Given the description of an element on the screen output the (x, y) to click on. 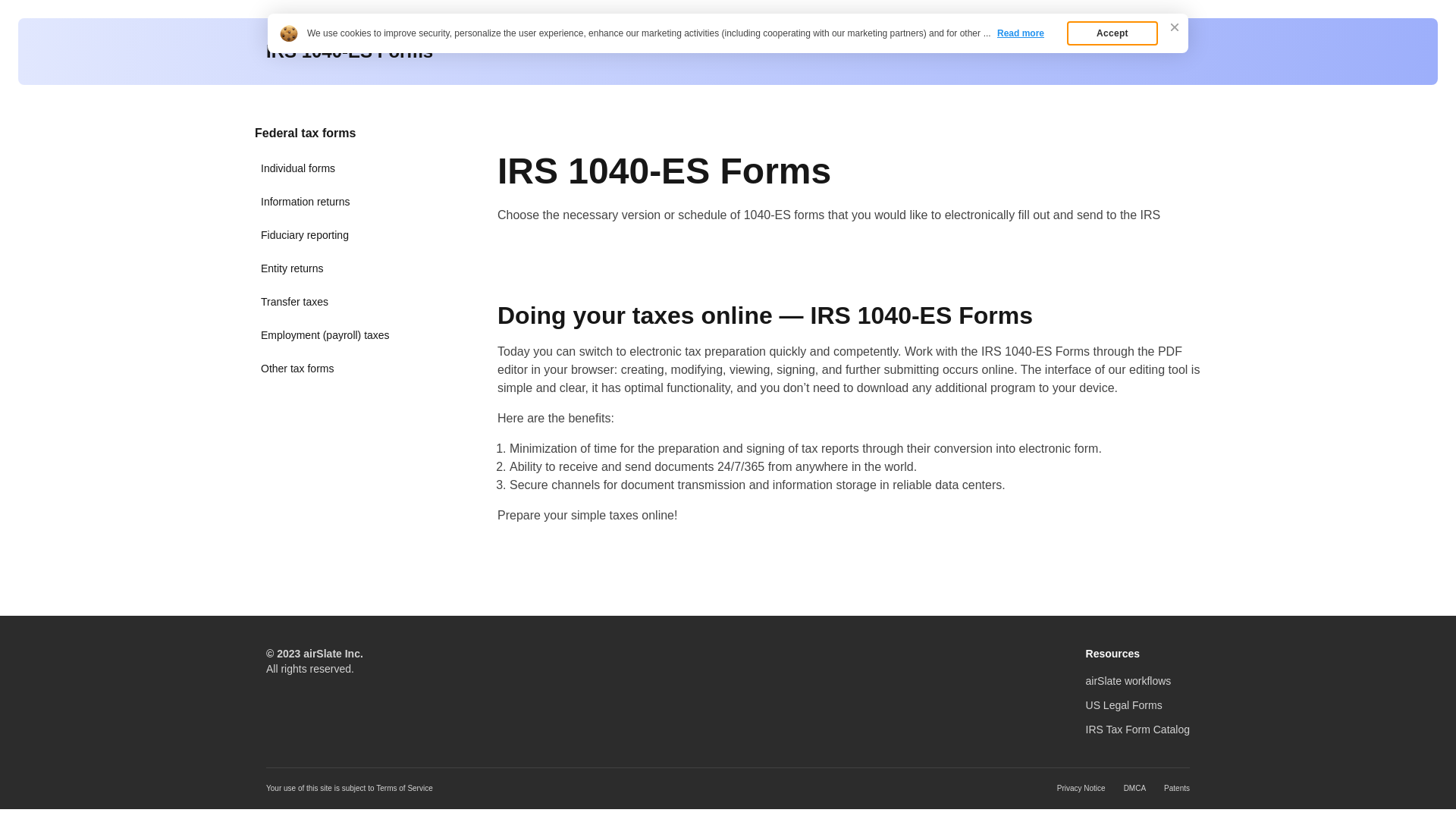
airSlate workflows Element type: text (1128, 680)
Entity returns Element type: text (333, 268)
Information returns Element type: text (333, 201)
Transfer taxes Element type: text (333, 301)
DMCA Element type: text (1134, 788)
Terms of Service Element type: text (404, 788)
Fiduciary reporting Element type: text (333, 234)
Accept Element type: text (1111, 33)
US Legal Forms Element type: text (1123, 705)
Employment (payroll) taxes Element type: text (333, 334)
Privacy Notice Element type: text (1081, 788)
Other tax forms Element type: text (333, 368)
Individual forms Element type: text (333, 168)
Patents Element type: text (1176, 788)
IRS Tax Form Catalog Element type: text (1137, 729)
